Given the description of an element on the screen output the (x, y) to click on. 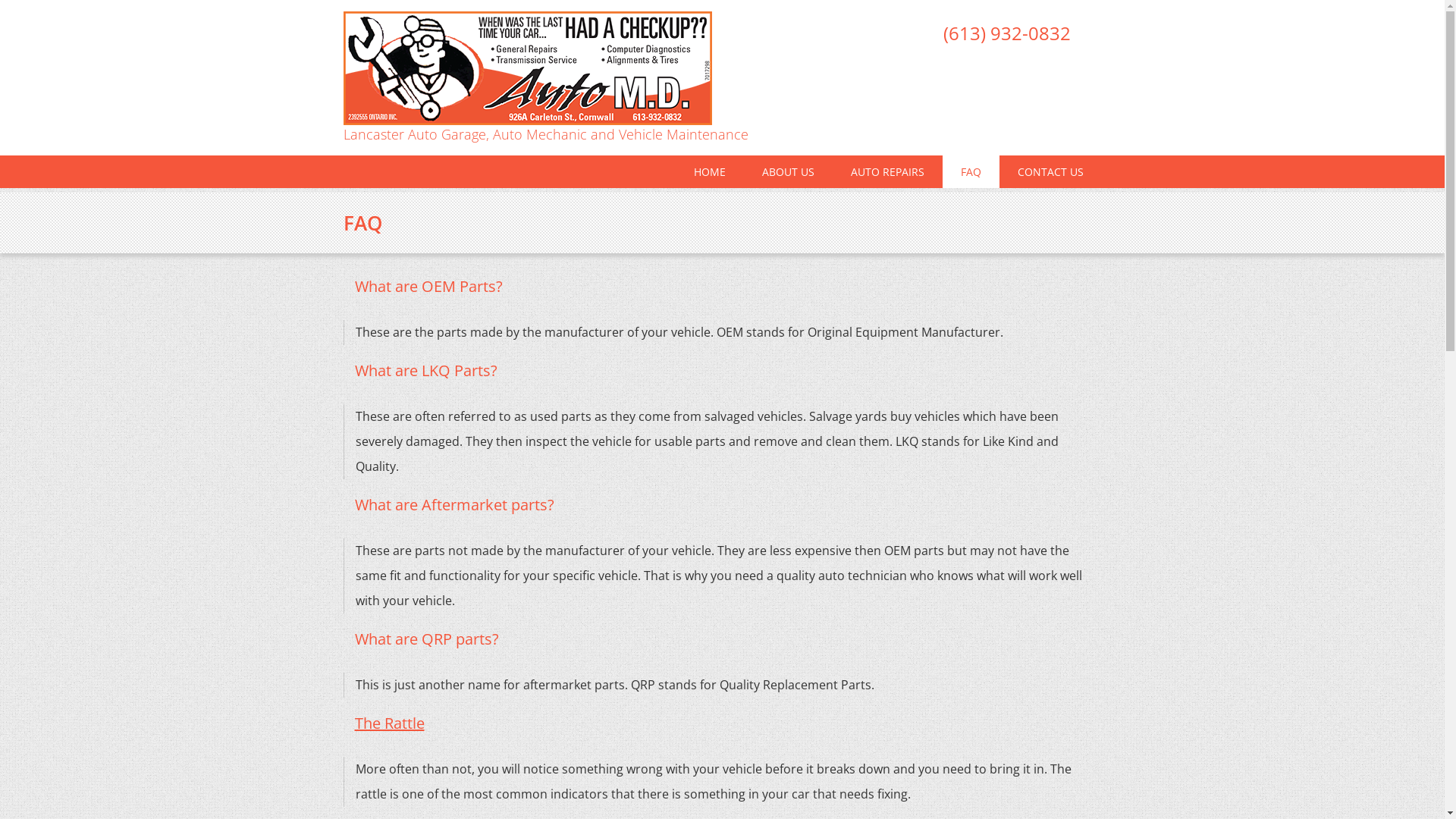
ABOUT US Element type: text (787, 171)
HOME Element type: text (708, 171)
AUTO REPAIRS Element type: text (887, 171)
CONTACT US Element type: text (1050, 171)
FAQ Element type: text (969, 171)
